Given the description of an element on the screen output the (x, y) to click on. 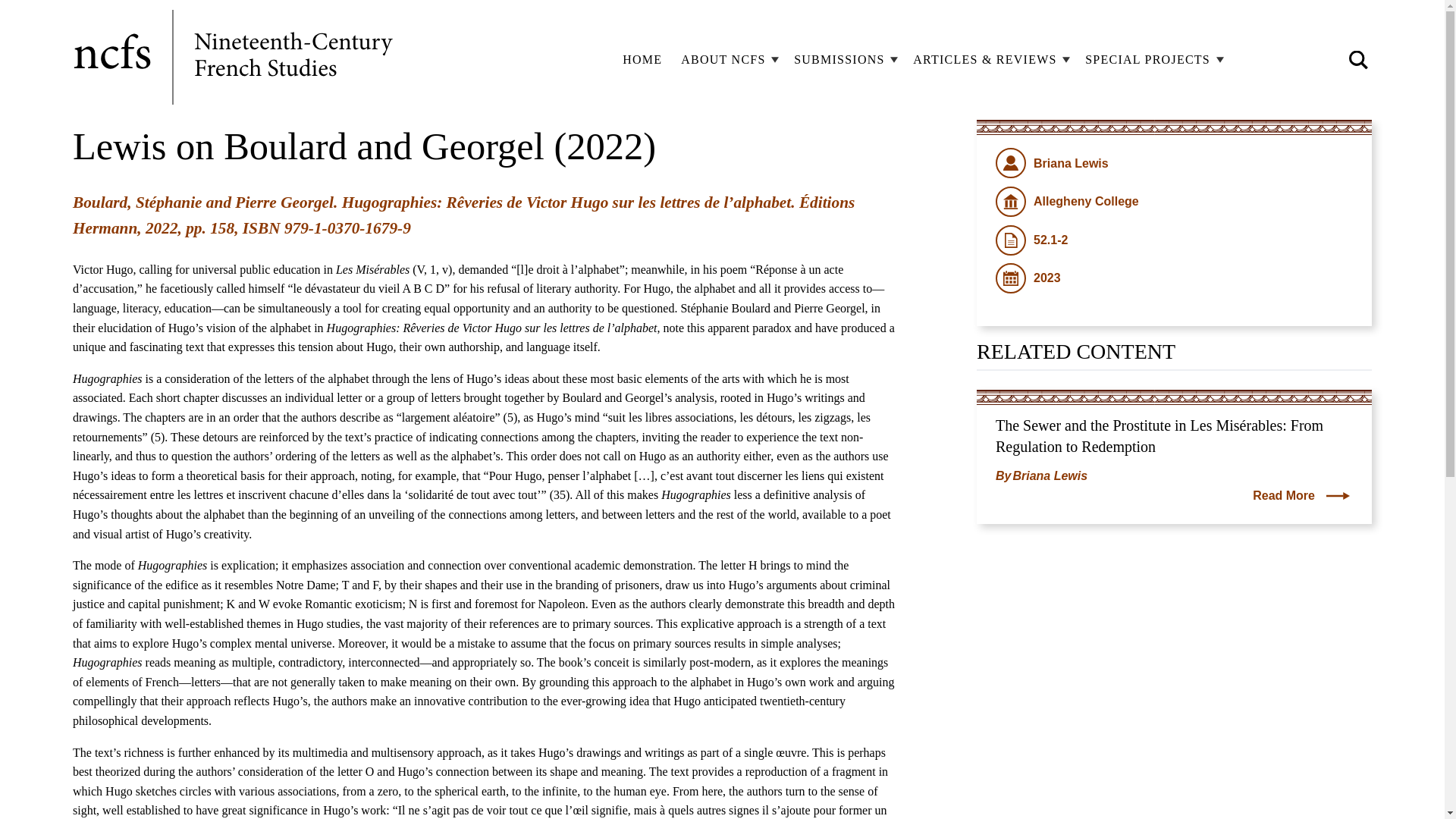
SUBMISSIONS (843, 59)
ABOUT NCFS (727, 59)
HOME (642, 59)
Nineteenth-Century French Studies home (234, 59)
SPECIAL PROJECTS (1152, 59)
